Given the description of an element on the screen output the (x, y) to click on. 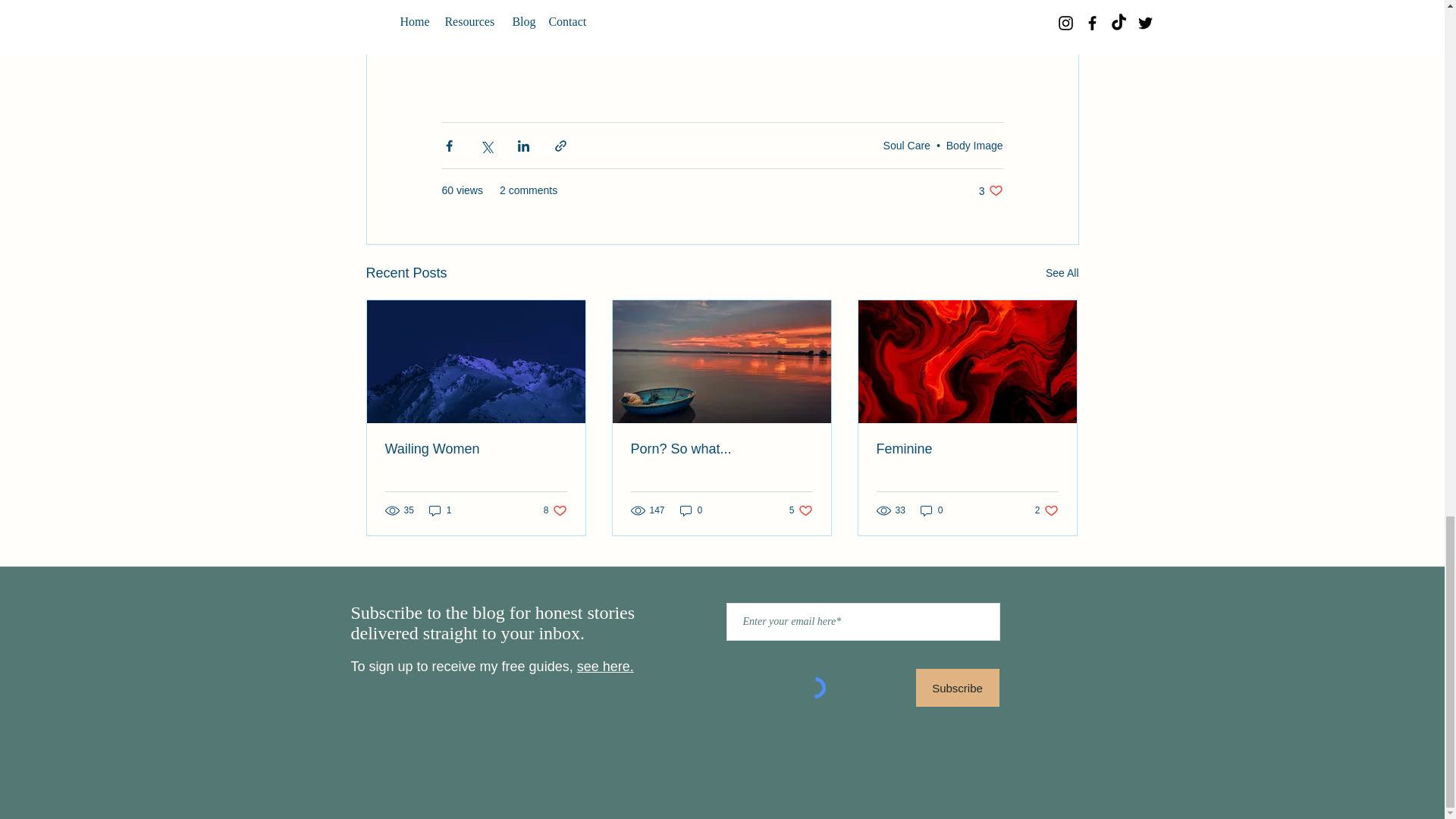
See All (990, 190)
Porn? So what... (1061, 273)
Body Image (721, 449)
1 (555, 510)
Wailing Women (974, 145)
Soul Care (440, 510)
